Given the description of an element on the screen output the (x, y) to click on. 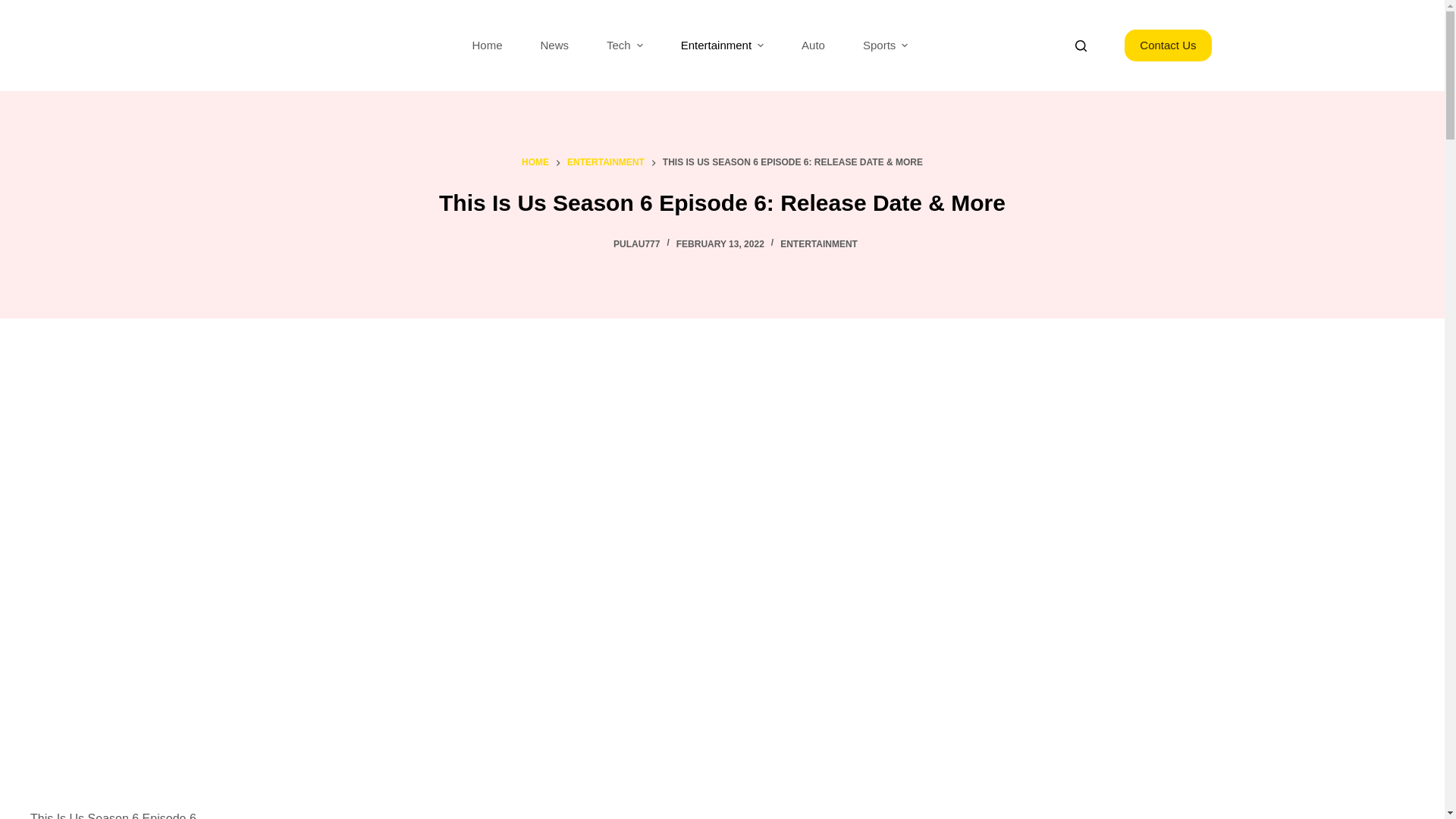
Posts by Pulau777 (635, 244)
Contact Us (1167, 45)
Tech (625, 45)
Sports (885, 45)
Auto (813, 45)
Entertainment (722, 45)
News (554, 45)
Skip to content (15, 7)
Home (486, 45)
